Given the description of an element on the screen output the (x, y) to click on. 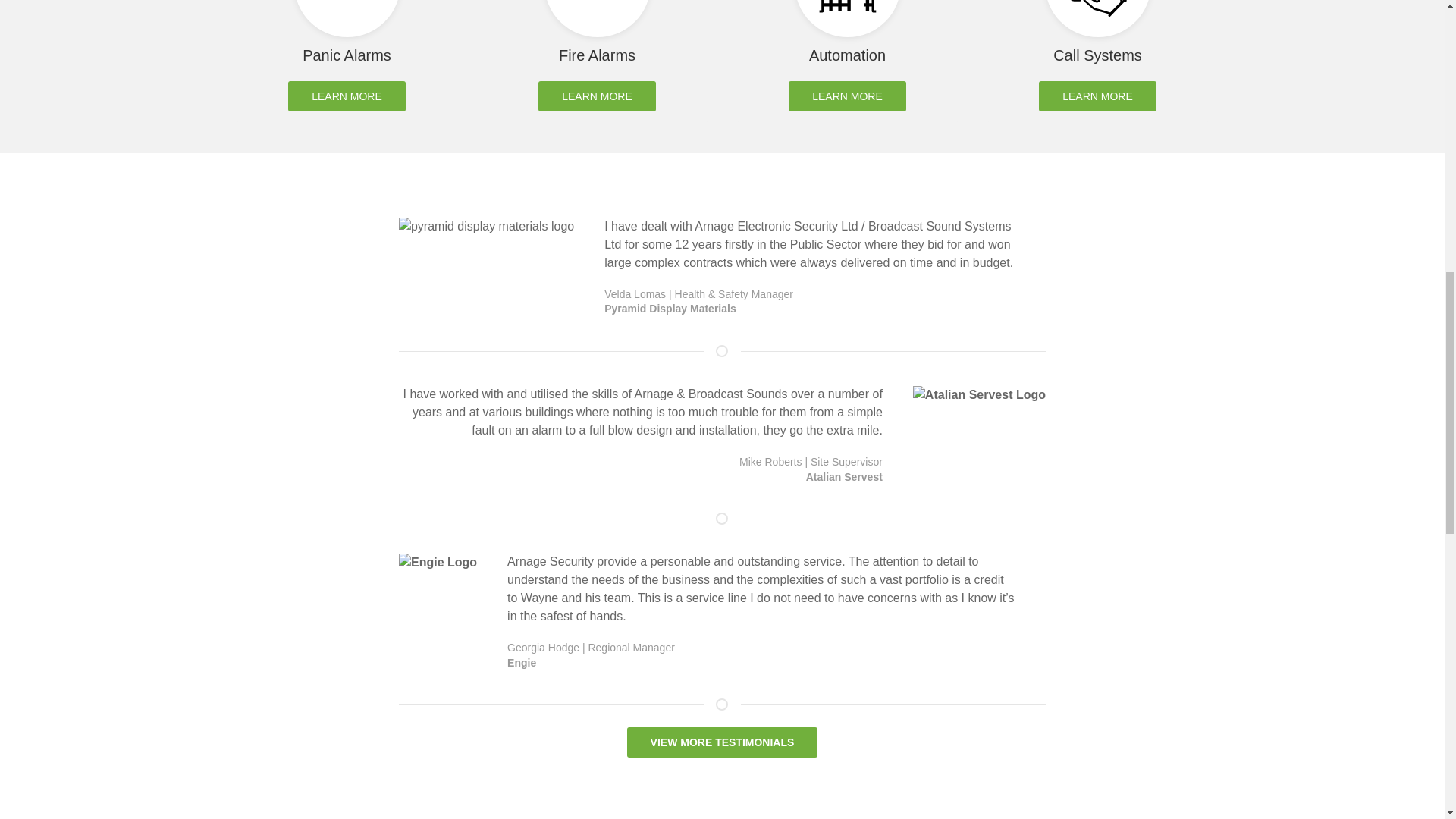
VIEW MORE TESTIMONIALS (722, 742)
LEARN MORE (847, 96)
LEARN MORE (597, 96)
LEARN MORE (347, 96)
LEARN MORE (1097, 96)
